Given the description of an element on the screen output the (x, y) to click on. 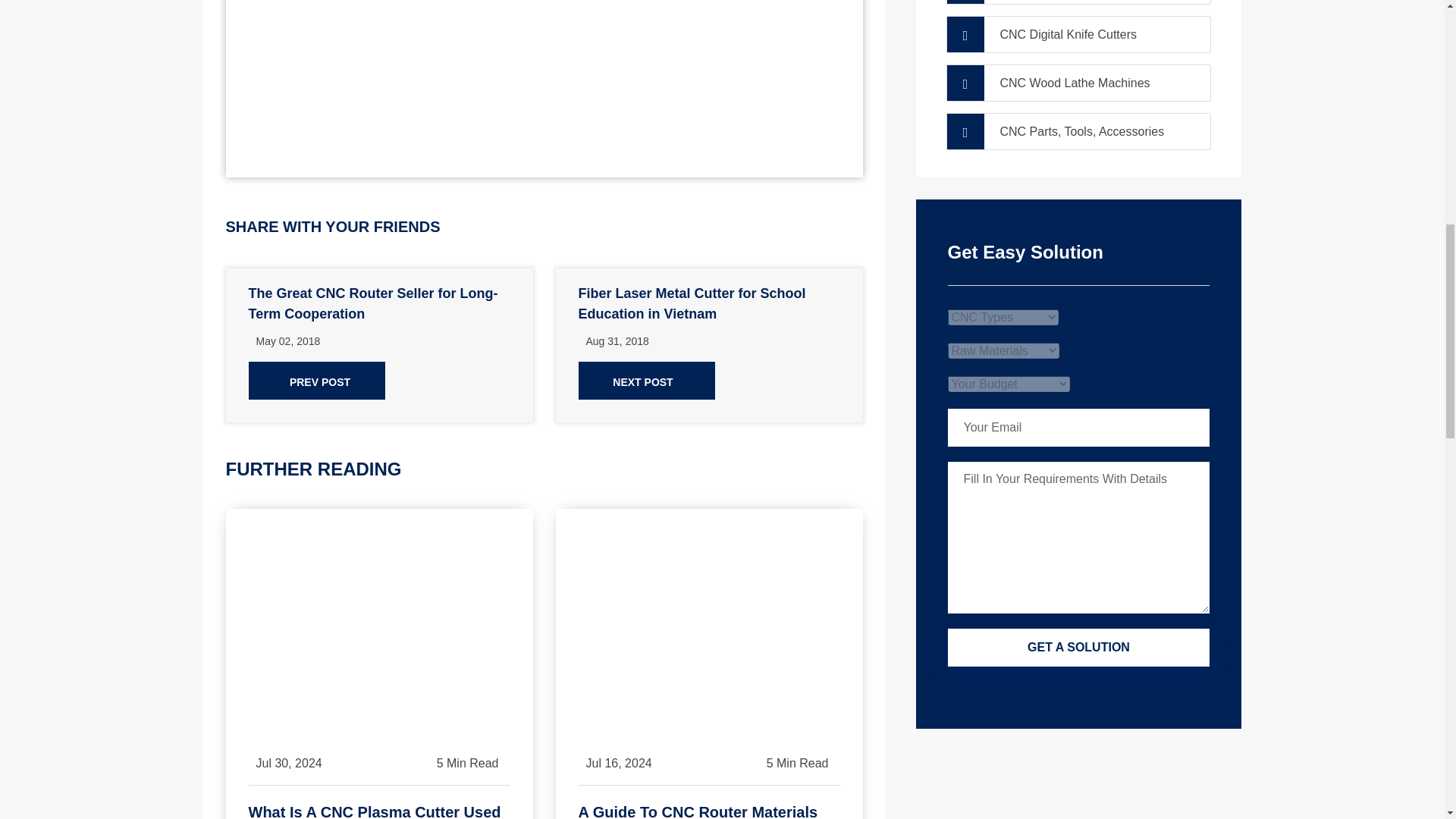
Get A Solution (1078, 647)
